Given the description of an element on the screen output the (x, y) to click on. 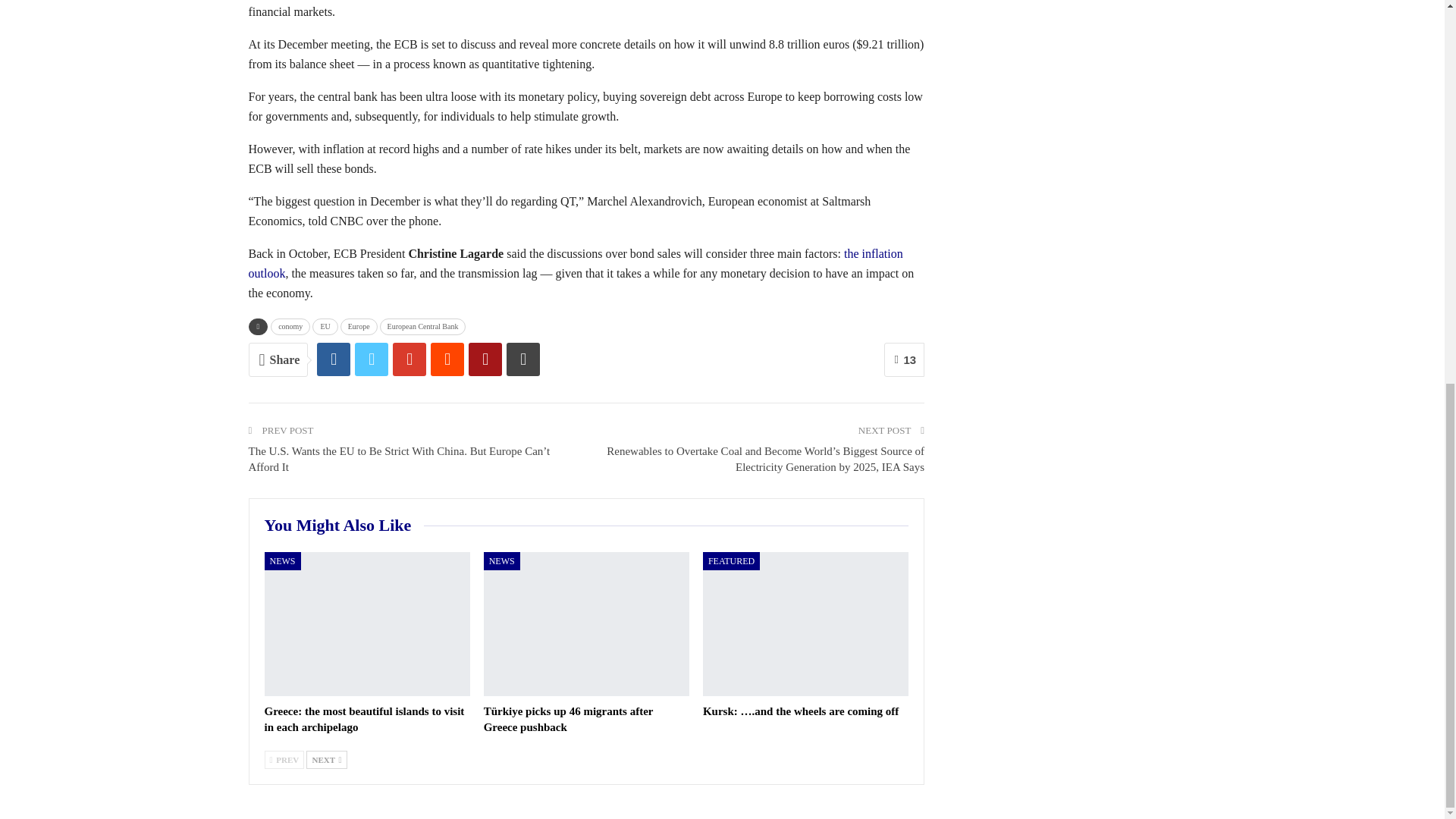
Previous (283, 760)
Next (325, 760)
